Given the description of an element on the screen output the (x, y) to click on. 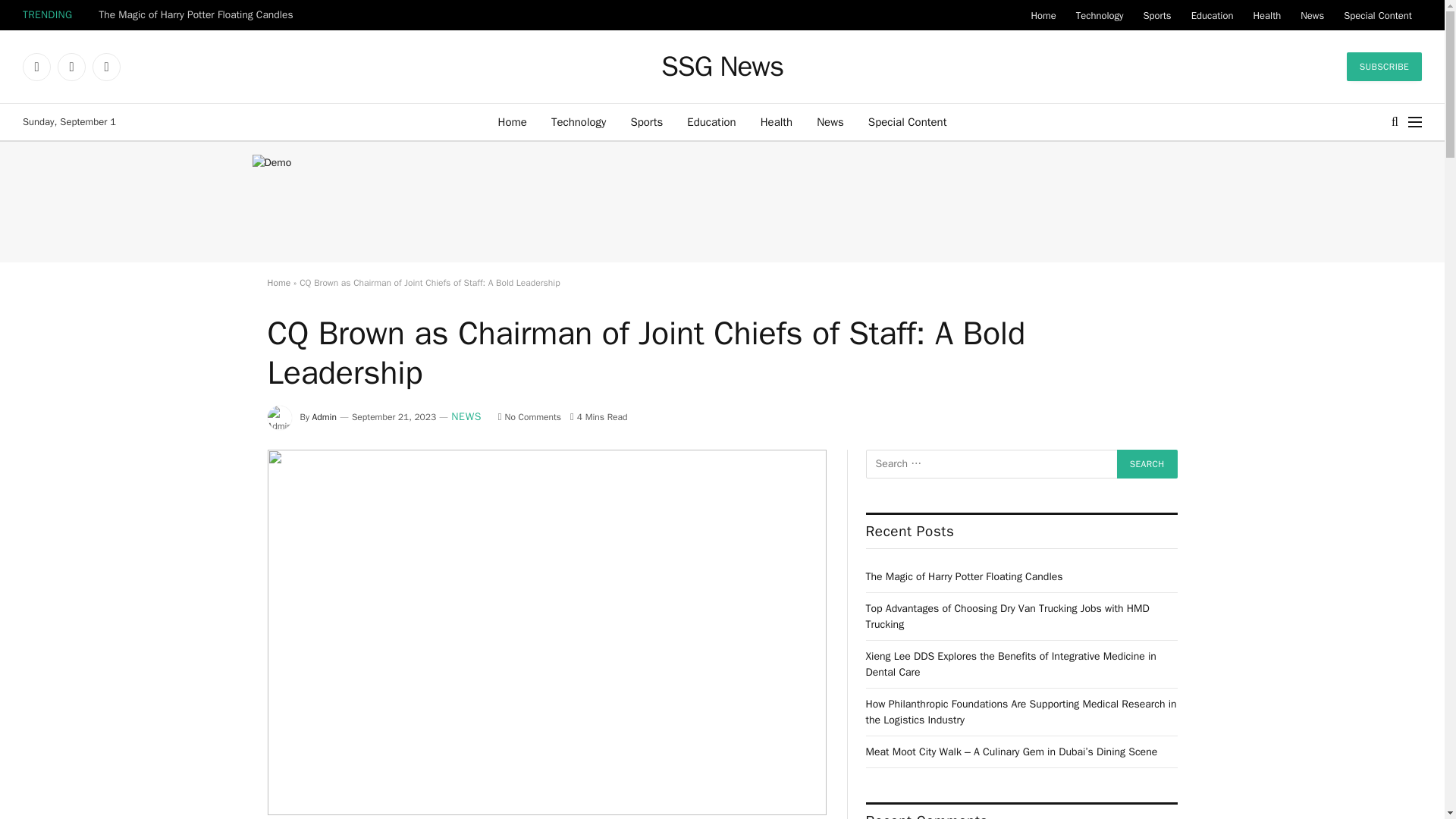
Posts by Admin (324, 417)
Home (512, 122)
SUBSCRIBE (1384, 66)
Education (711, 122)
The Magic of Harry Potter Floating Candles (199, 15)
Technology (578, 122)
Health (1266, 15)
Special Content (907, 122)
Health (776, 122)
Home (1042, 15)
